Given the description of an element on the screen output the (x, y) to click on. 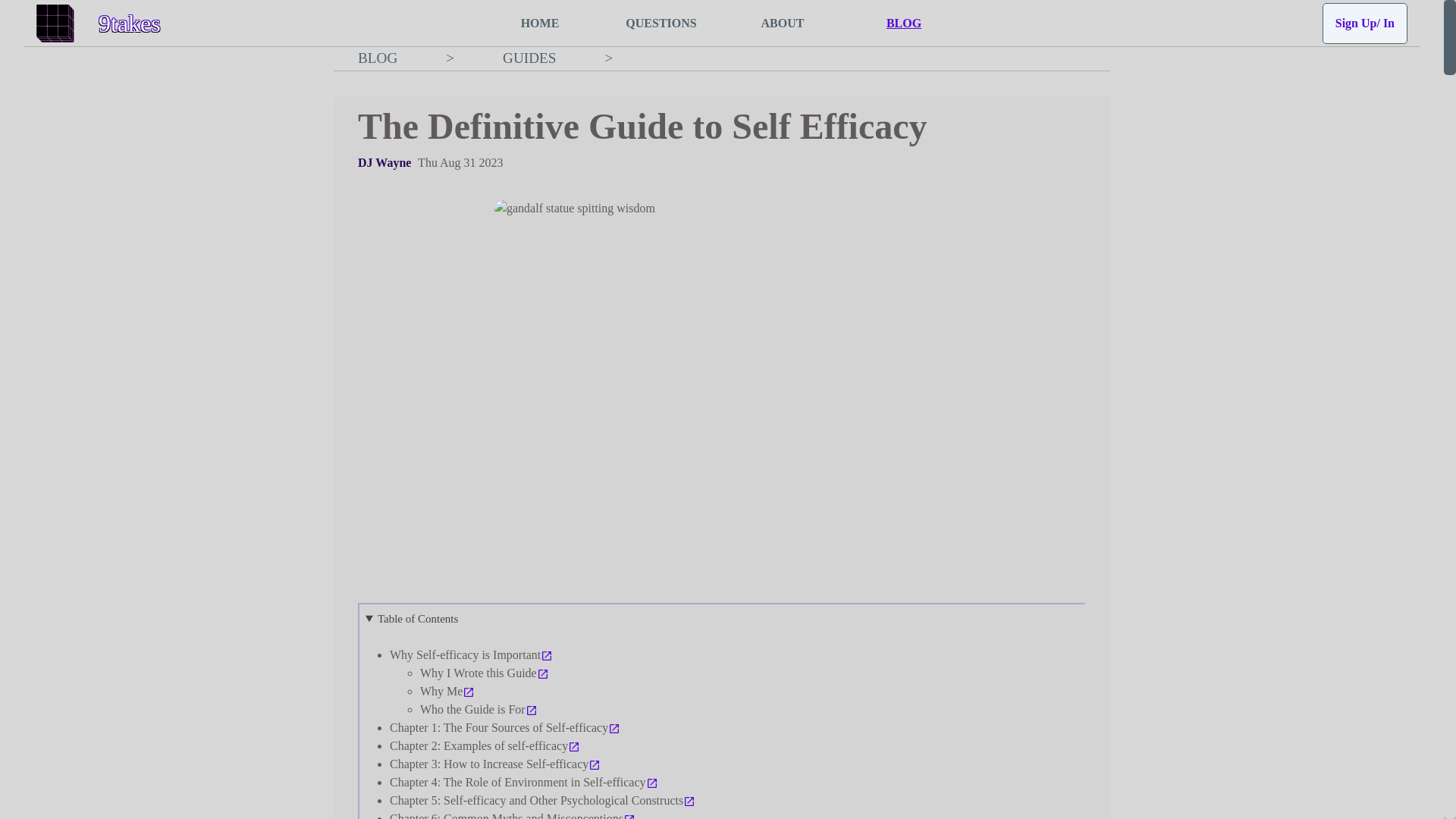
HOME (539, 22)
ABOUT (782, 22)
GUIDES (529, 58)
BLOG (377, 58)
BLOG (903, 22)
he is so cool (384, 162)
QUESTIONS (660, 22)
